Given the description of an element on the screen output the (x, y) to click on. 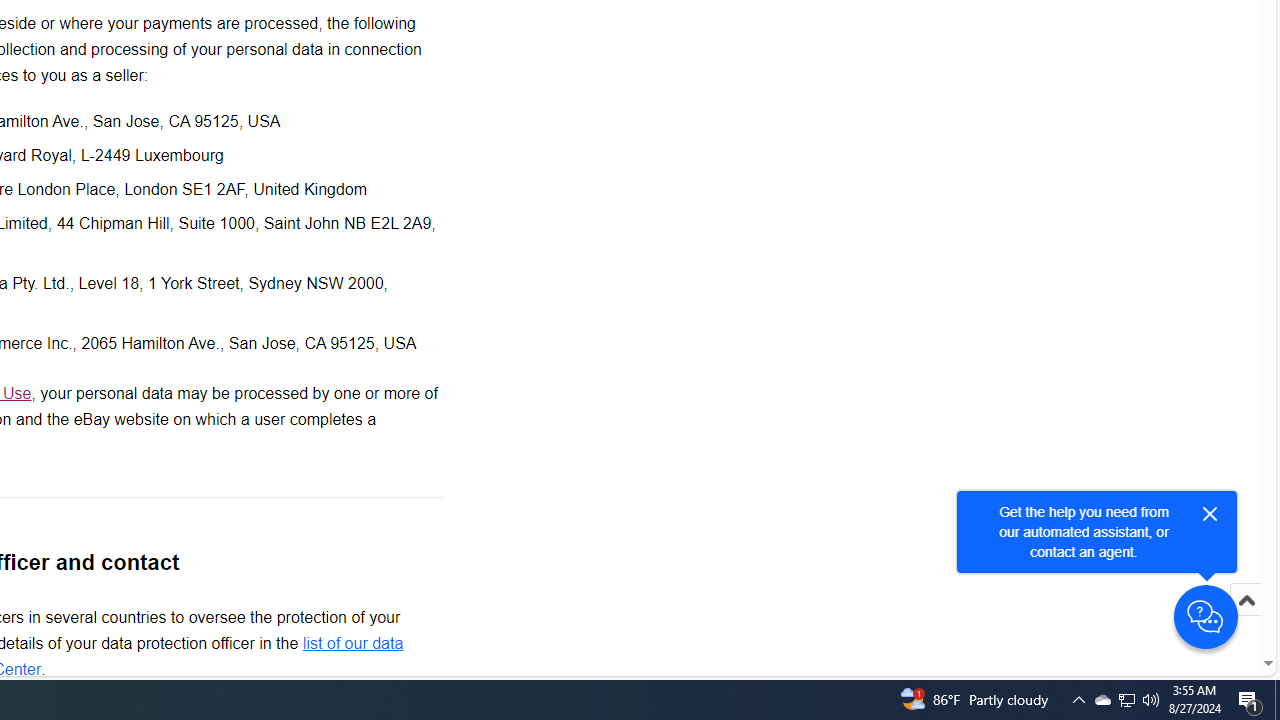
Scroll to top (1246, 599)
Scroll to top (1246, 620)
